Given the description of an element on the screen output the (x, y) to click on. 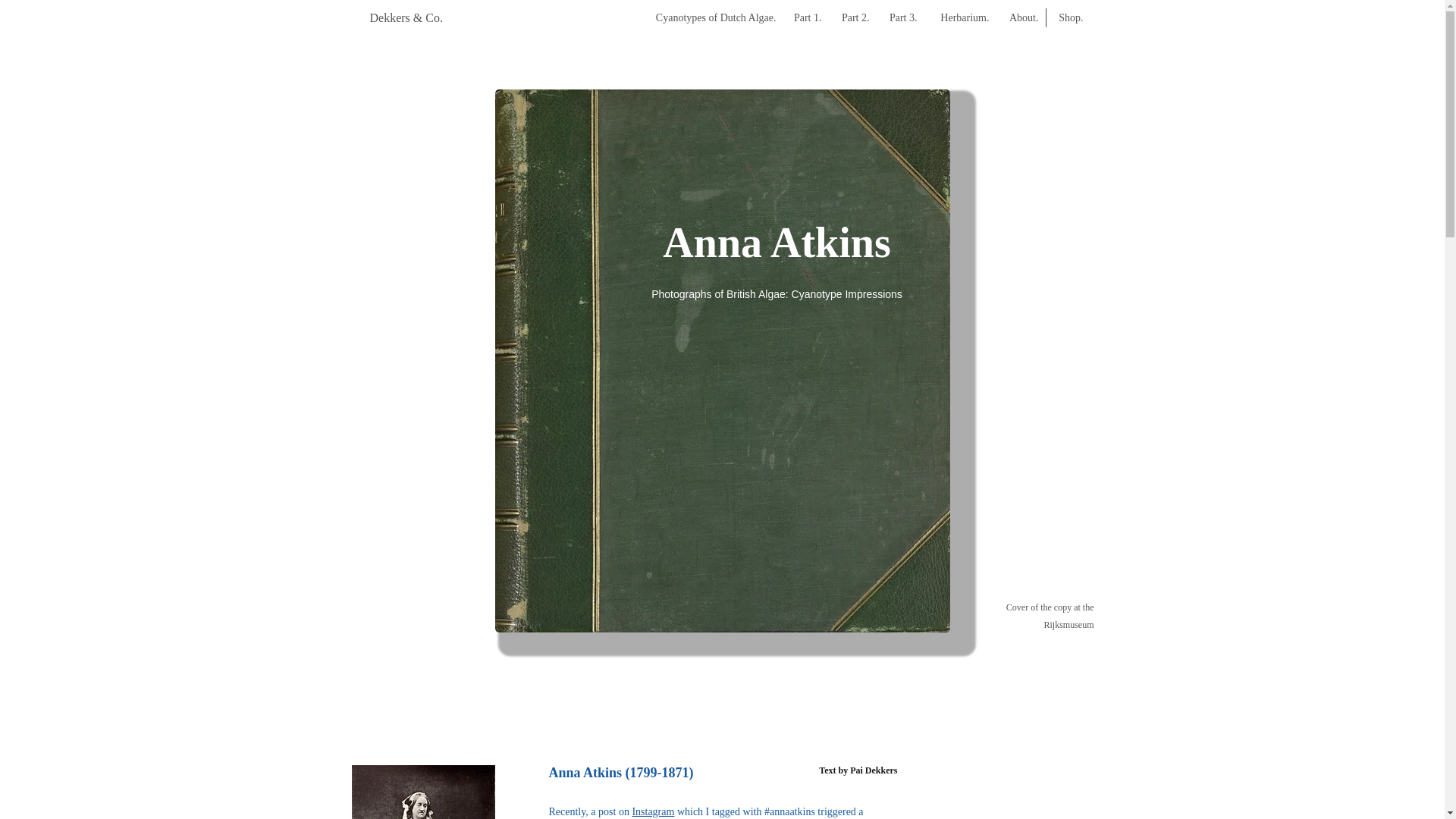
Herbarium. (960, 17)
Part 2. (853, 17)
Shop. (1068, 17)
Part 3. (900, 17)
Part 1. (806, 17)
Instagram (652, 811)
Cyanotypes of Dutch Algae. (705, 17)
About. (1020, 17)
